Given the description of an element on the screen output the (x, y) to click on. 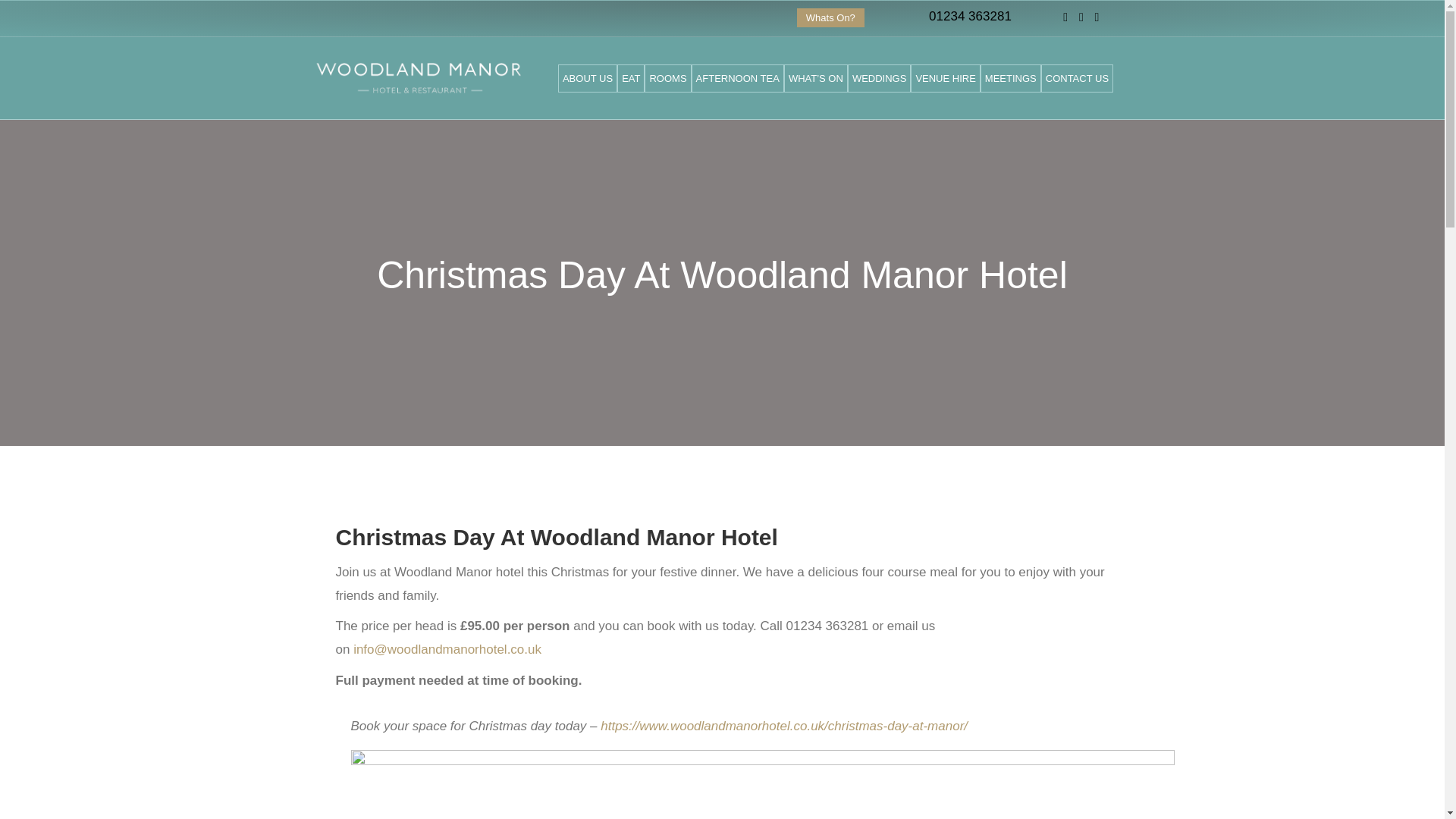
AFTERNOON TEA (737, 78)
EAT (631, 78)
MEETINGS (1010, 78)
WEDDINGS (879, 78)
Whats On? (830, 17)
VENUE HIRE (945, 78)
ABOUT US (587, 78)
ROOMS (667, 78)
